Given the description of an element on the screen output the (x, y) to click on. 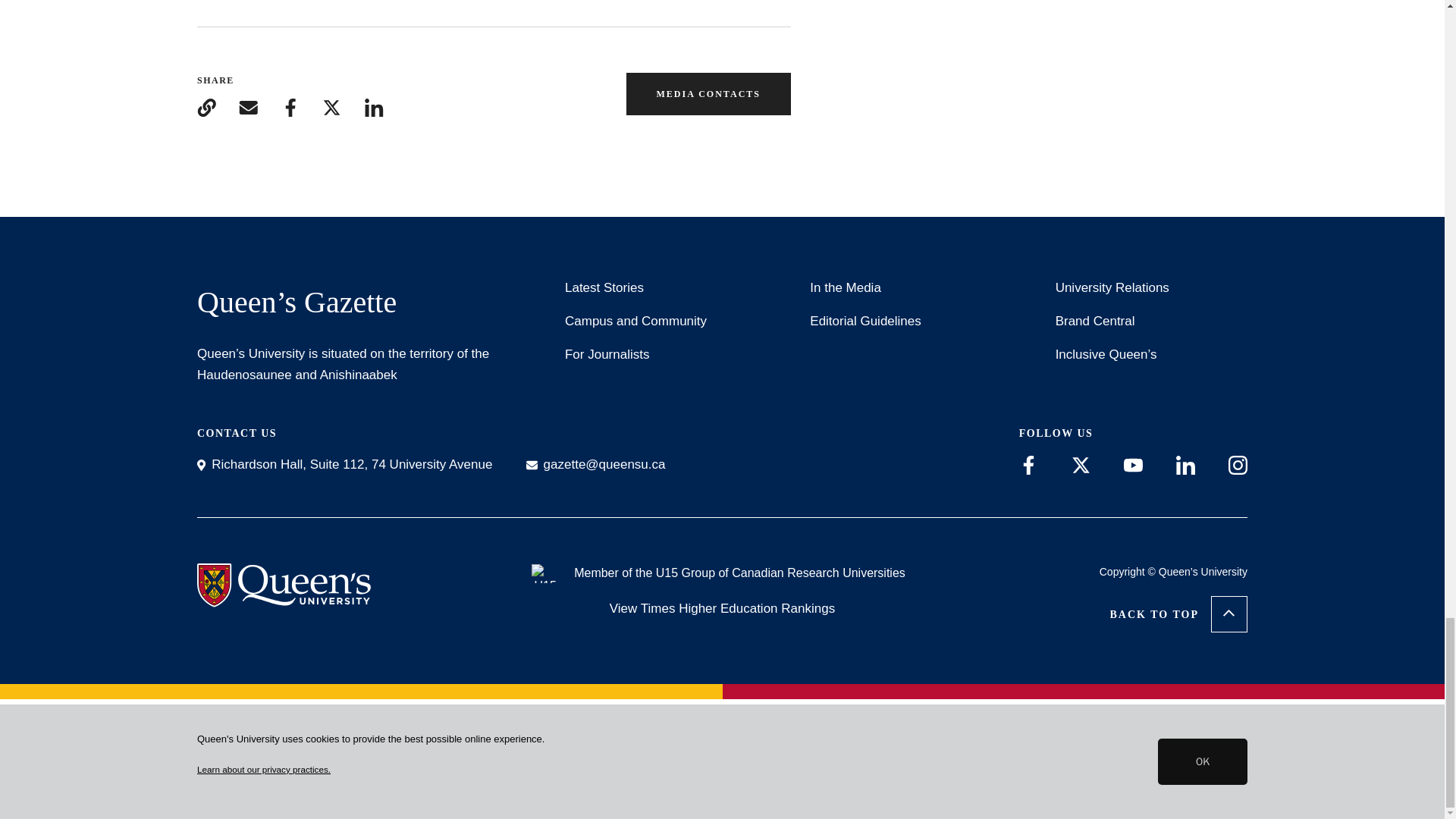
Copy link to clipboard (205, 107)
